Given the description of an element on the screen output the (x, y) to click on. 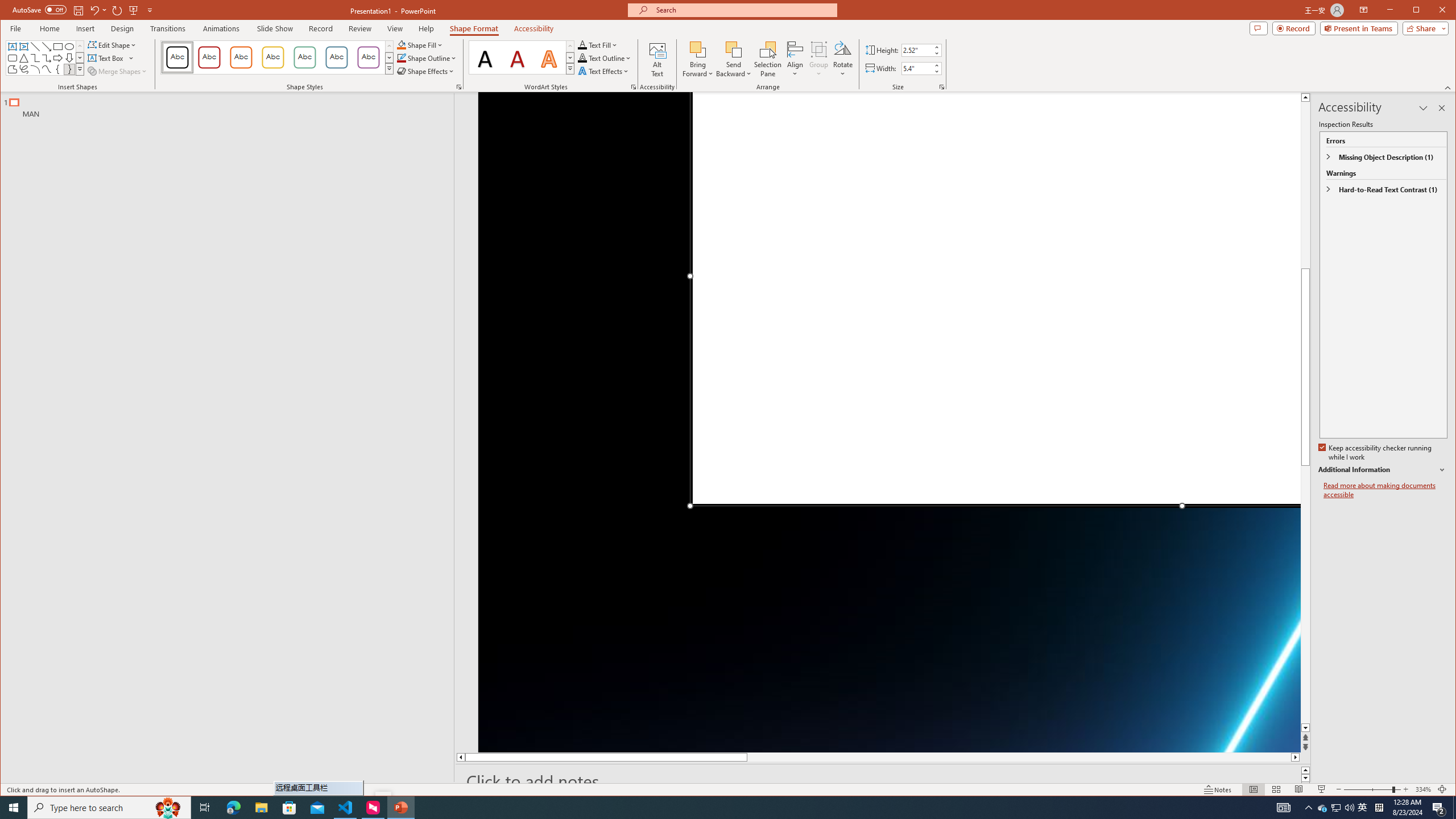
Merge Shapes (118, 70)
Neon laser lights aligned to form a triangle (889, 421)
Size and Position... (941, 86)
Colored Outline - Orange, Accent 2 (241, 57)
Colored Outline - Gold, Accent 3 (272, 57)
Rotate (842, 59)
